Given the description of an element on the screen output the (x, y) to click on. 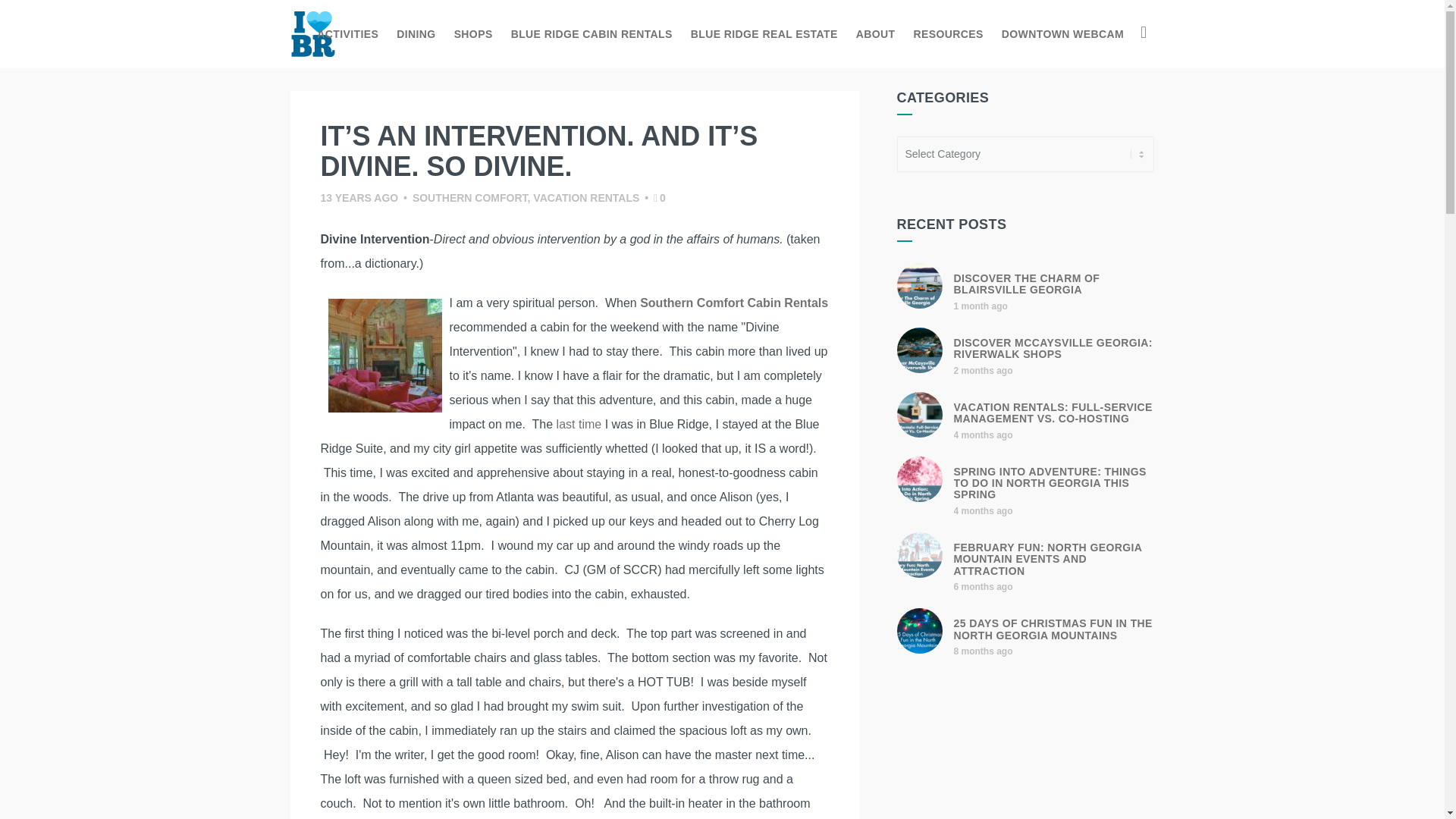
Thu, 16 May 2024 14:52:14 -0400 (983, 370)
DOWNTOWN WEBCAM (1062, 33)
ACTIVITIES (347, 33)
Mon, 18 Mar 2024 13:15:26 -0400 (983, 511)
BLUE RIDGE REAL ESTATE (764, 33)
last time (579, 423)
SHOPS (473, 33)
RESOURCES (947, 33)
DISCOVER MCCAYSVILLE GEORGIA: RIVERWALK SHOPS (1053, 348)
13 YEARS AGO (358, 197)
Southern Comfort Cabin Rentals (734, 302)
Divine Intervention Cabin Rental in Cherry Log GA (384, 355)
DINING (415, 33)
Wed, 29 Nov 2023 11:52:14 -0500 (983, 651)
ABOUT (875, 33)
